Given the description of an element on the screen output the (x, y) to click on. 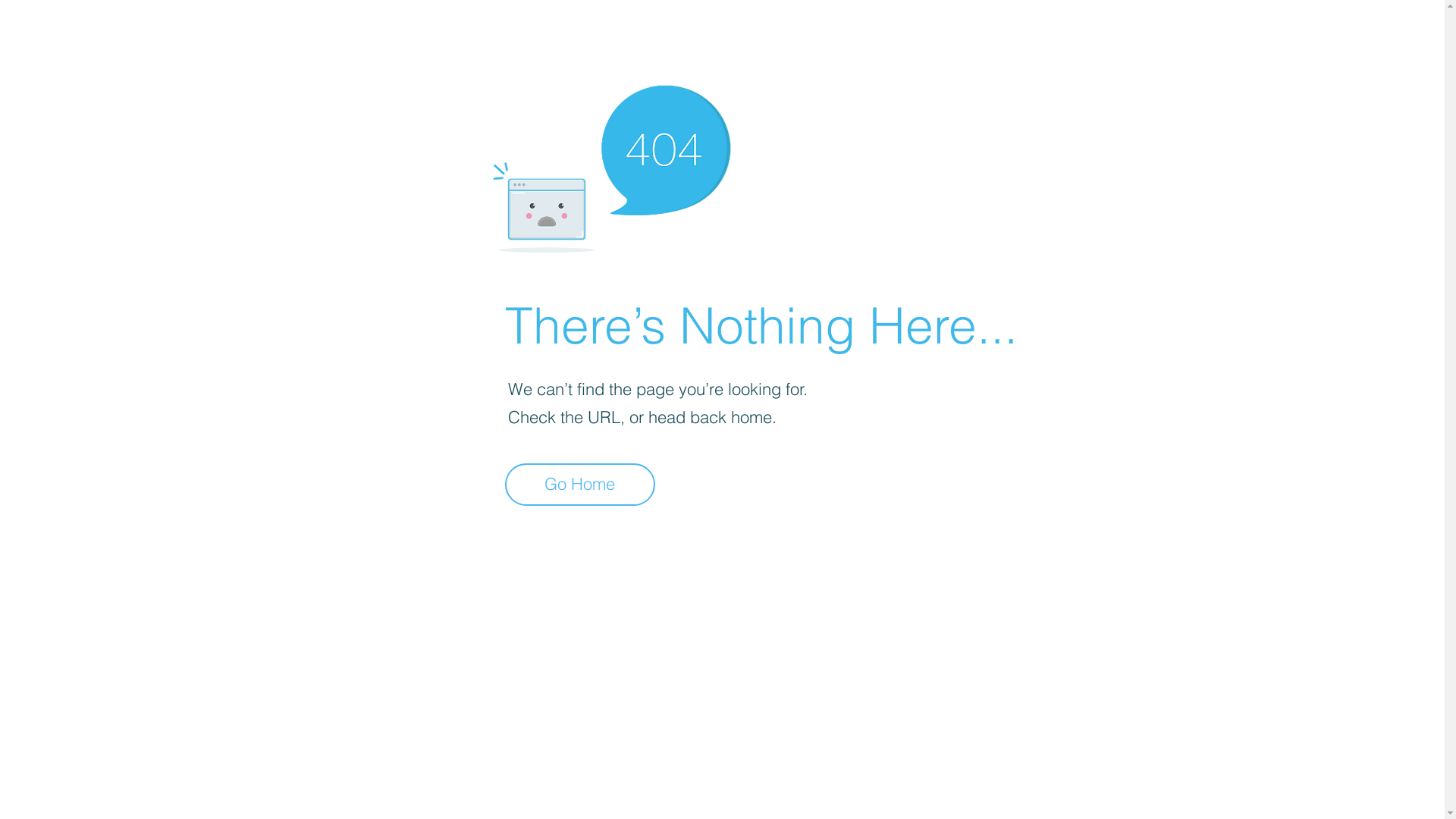
Go Home Element type: text (580, 484)
404-icon_2.png Element type: hover (610, 164)
